Given the description of an element on the screen output the (x, y) to click on. 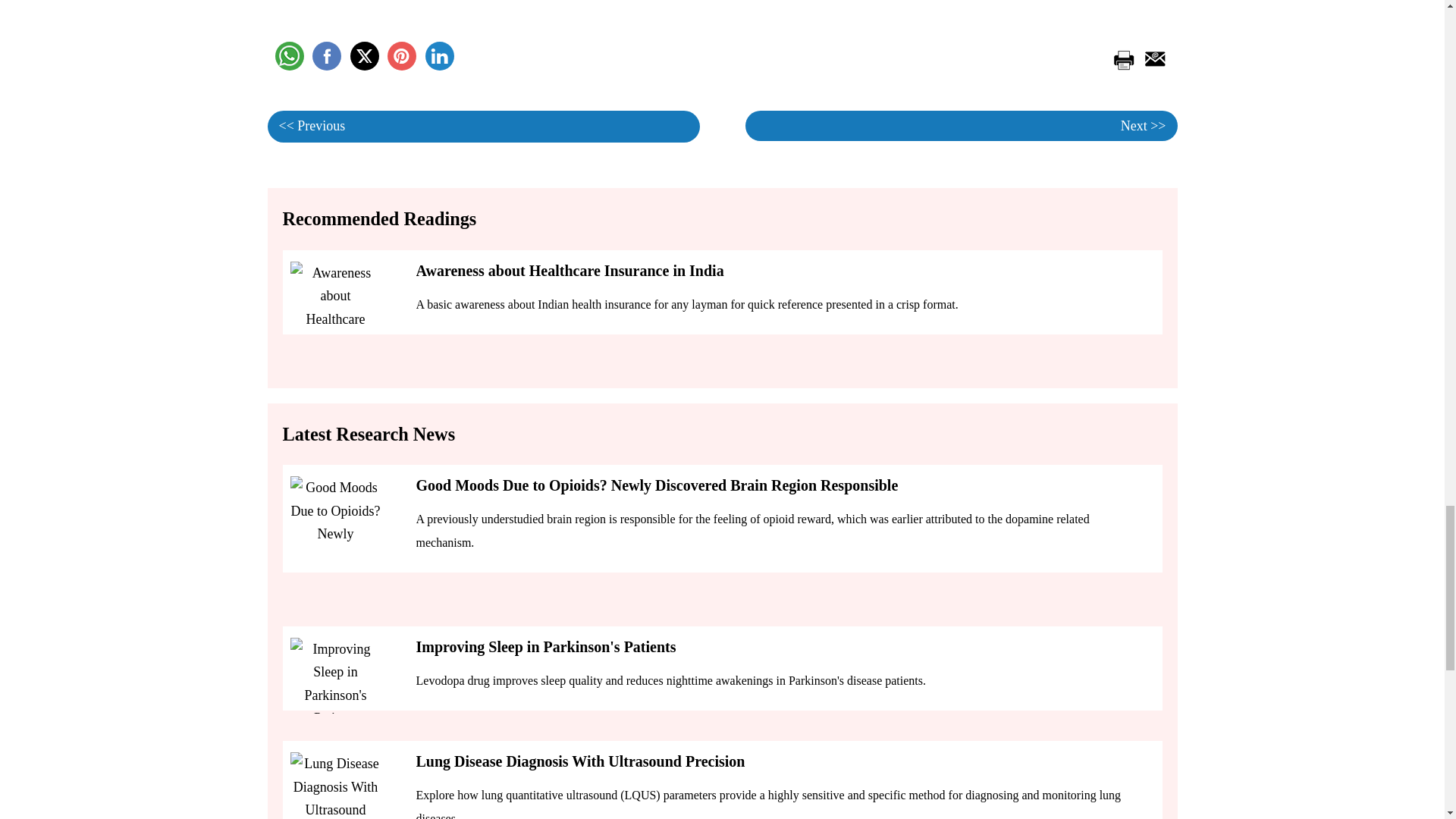
Whatsapp (288, 55)
Facebook (326, 55)
Facebook (326, 55)
Twitter (364, 55)
Linkedin (438, 55)
Whatsapp (288, 55)
Pinterest (401, 55)
Print This Page (1121, 56)
Improving Sleep in Parkinson's Patients (334, 675)
Linkedin (438, 55)
